Given the description of an element on the screen output the (x, y) to click on. 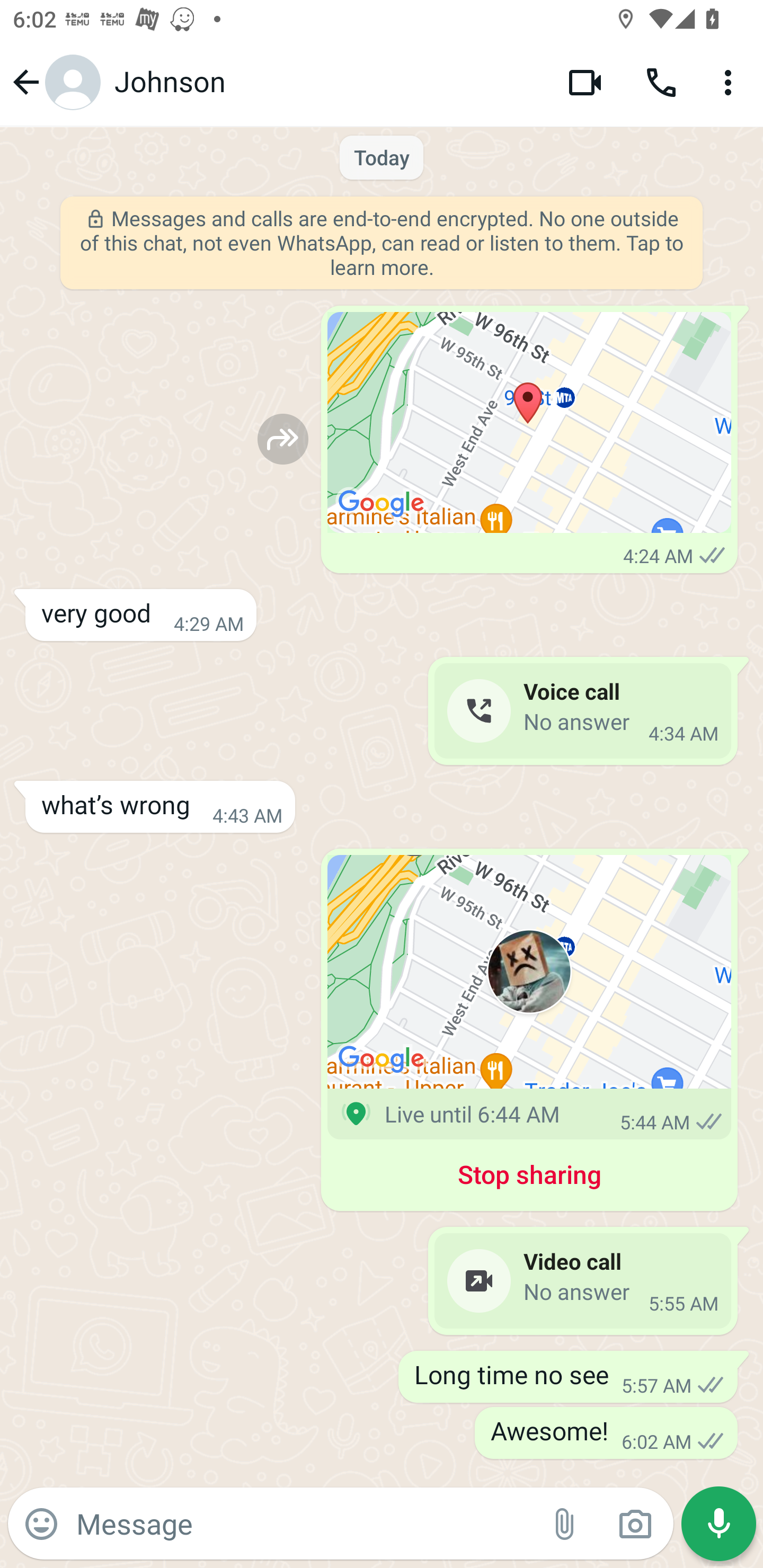
Johnson (327, 82)
Navigate up (54, 82)
Video call (585, 81)
Voice call (661, 81)
More options (731, 81)
Location (528, 422)
Forward to… (282, 438)
Live location (528, 971)
Stop sharing (529, 1178)
Emoji (41, 1523)
Attach (565, 1523)
Camera (634, 1523)
Message (303, 1523)
